Given the description of an element on the screen output the (x, y) to click on. 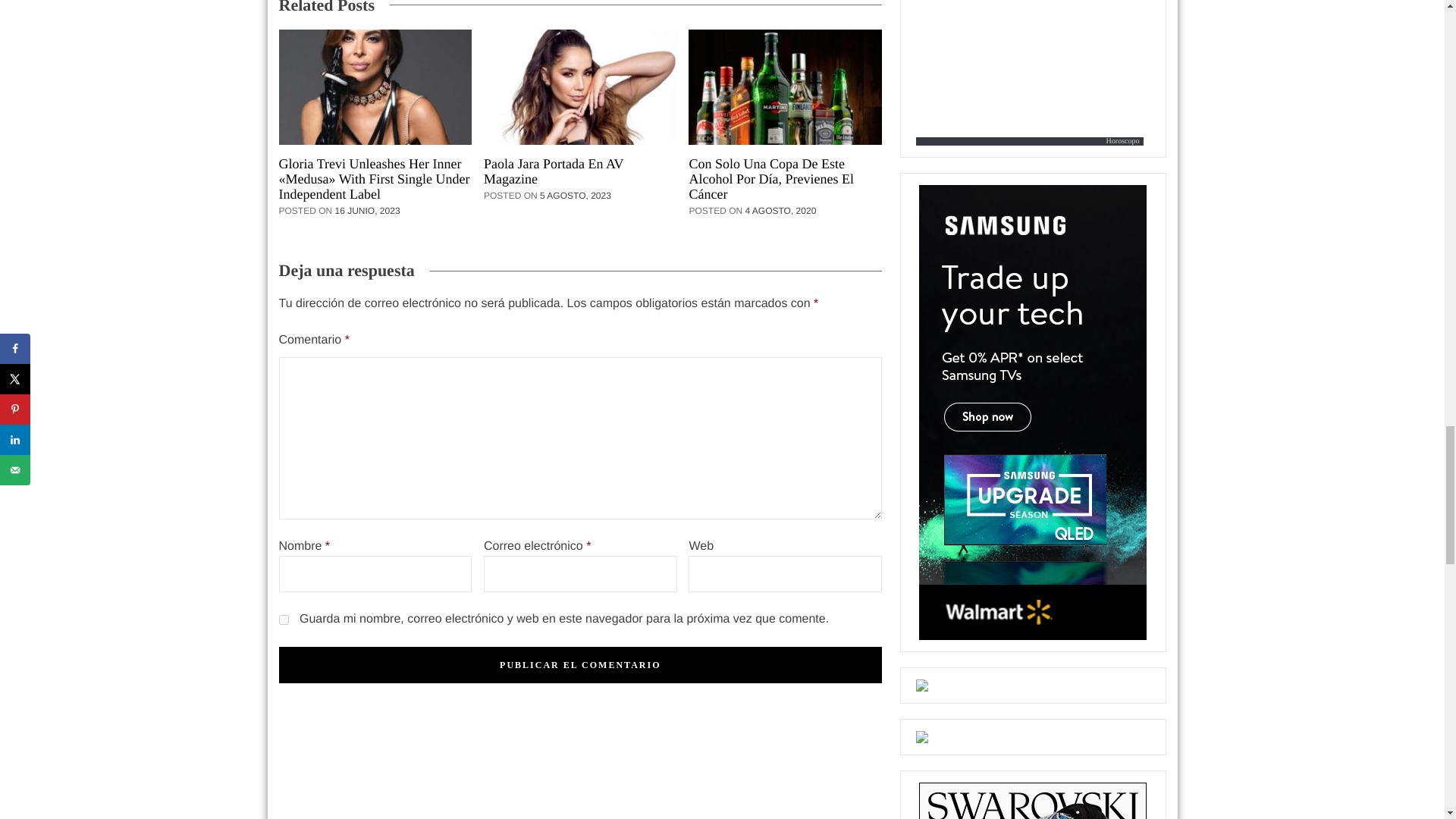
Publicar el comentario (580, 665)
16 JUNIO, 2023 (370, 210)
4 AGOSTO, 2020 (784, 210)
5 AGOSTO, 2023 (579, 195)
Publicar el comentario (580, 665)
Paola Jara Portada En AV Magazine (580, 171)
yes (283, 619)
